Given the description of an element on the screen output the (x, y) to click on. 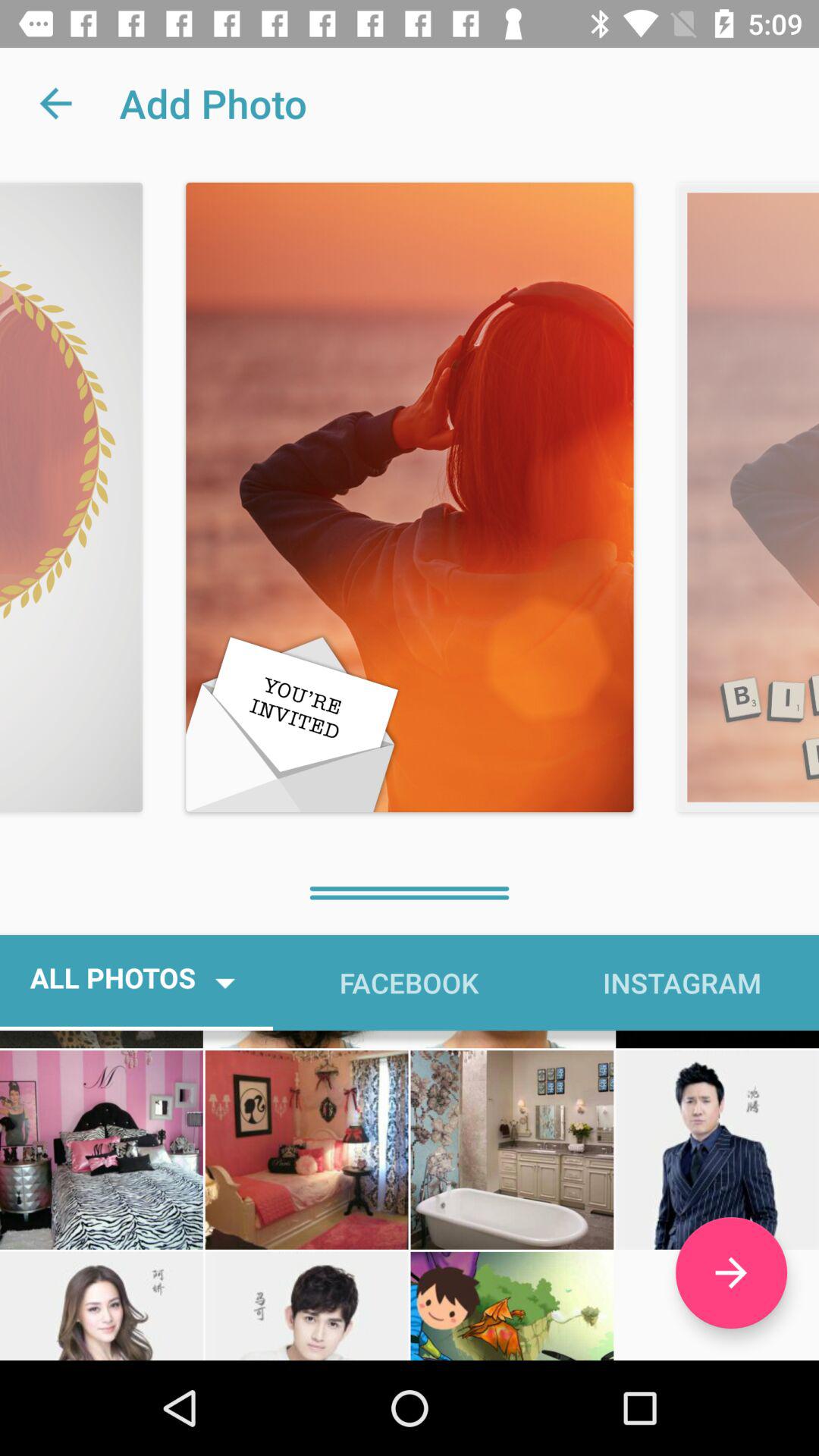
click icon to the left of add photo (55, 103)
